Given the description of an element on the screen output the (x, y) to click on. 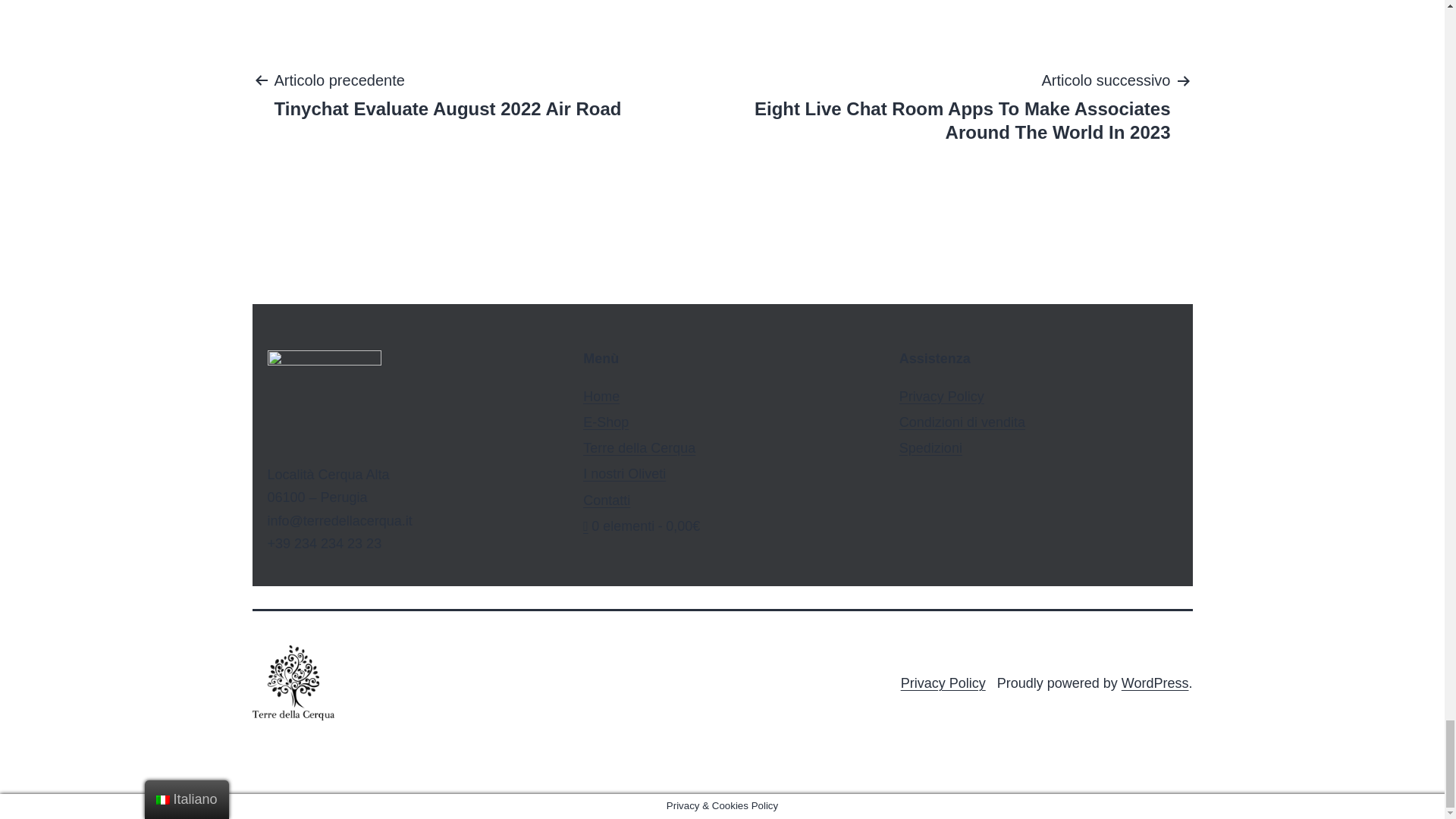
Home (601, 396)
Terre della Cerqua (639, 447)
Privacy Policy (447, 93)
Condizioni di vendita (941, 396)
E-Shop (962, 421)
Spedizioni (605, 421)
WordPress (930, 447)
Vai al negozio (1155, 683)
